Given the description of an element on the screen output the (x, y) to click on. 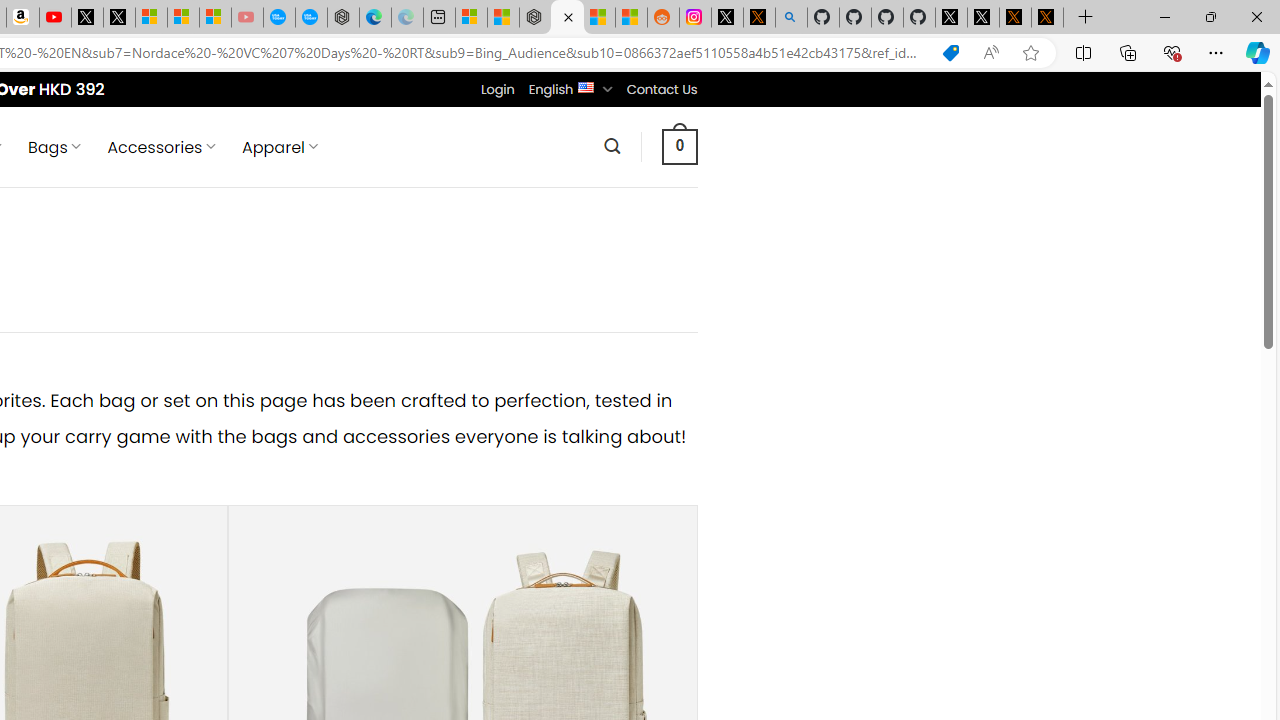
Log in to X / X (727, 17)
Shanghai, China Weather trends | Microsoft Weather (630, 17)
